Given the description of an element on the screen output the (x, y) to click on. 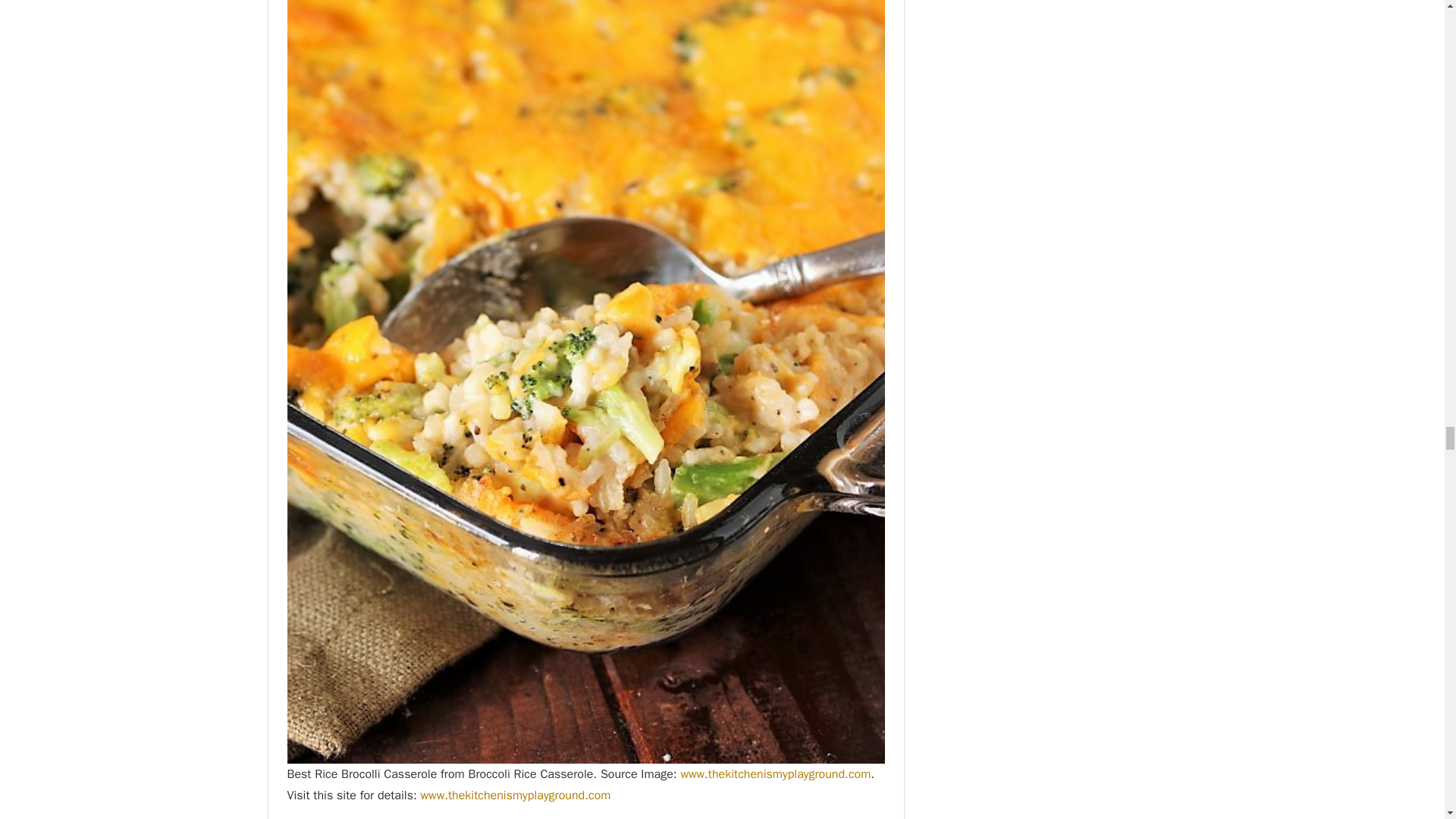
www.thekitchenismyplayground.com (774, 774)
